Given the description of an element on the screen output the (x, y) to click on. 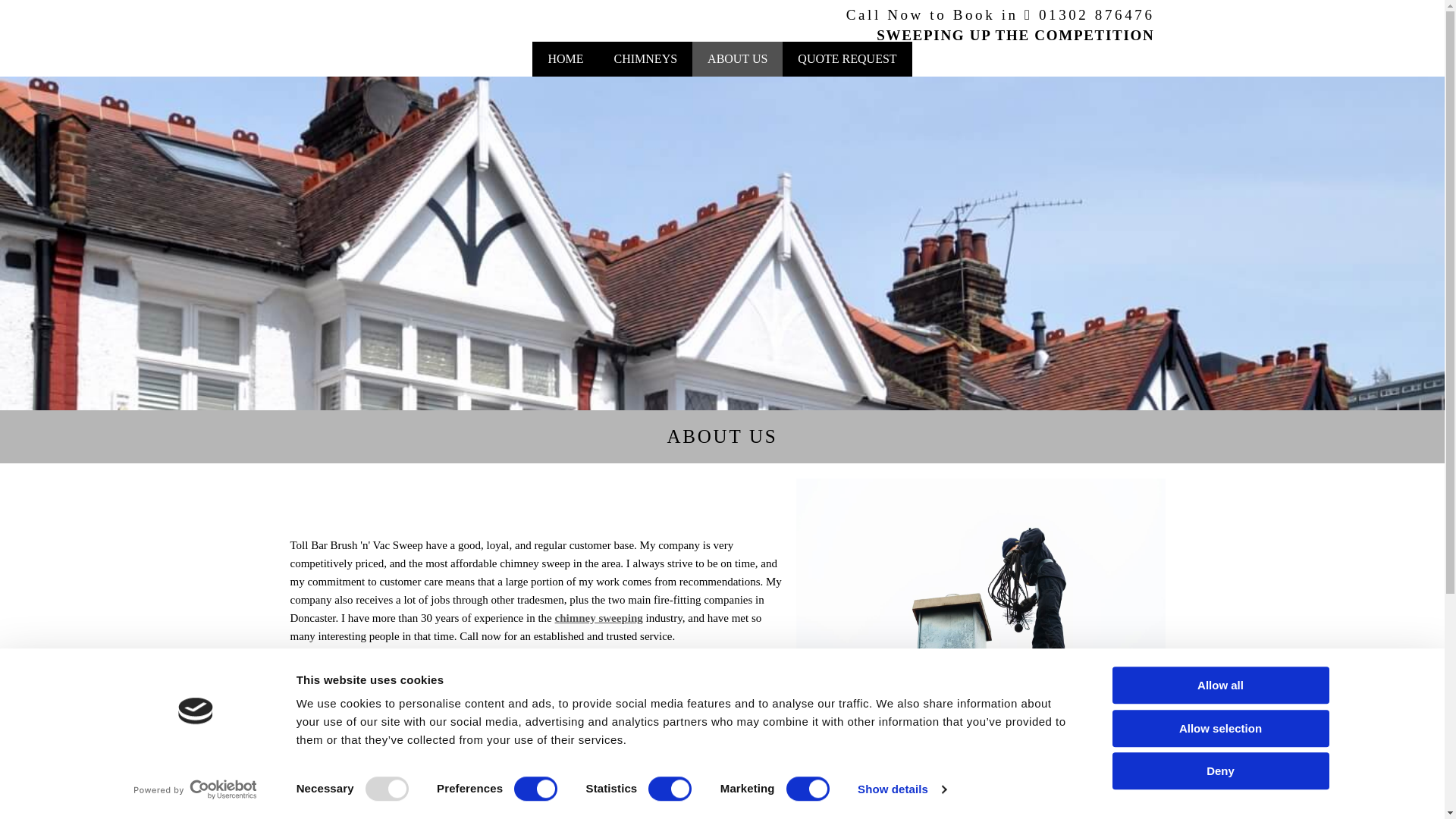
Show details (900, 789)
Allow all (1219, 684)
CHIMNEYS (645, 58)
HOME (565, 58)
Deny (1219, 770)
Allow selection (1219, 728)
